Given the description of an element on the screen output the (x, y) to click on. 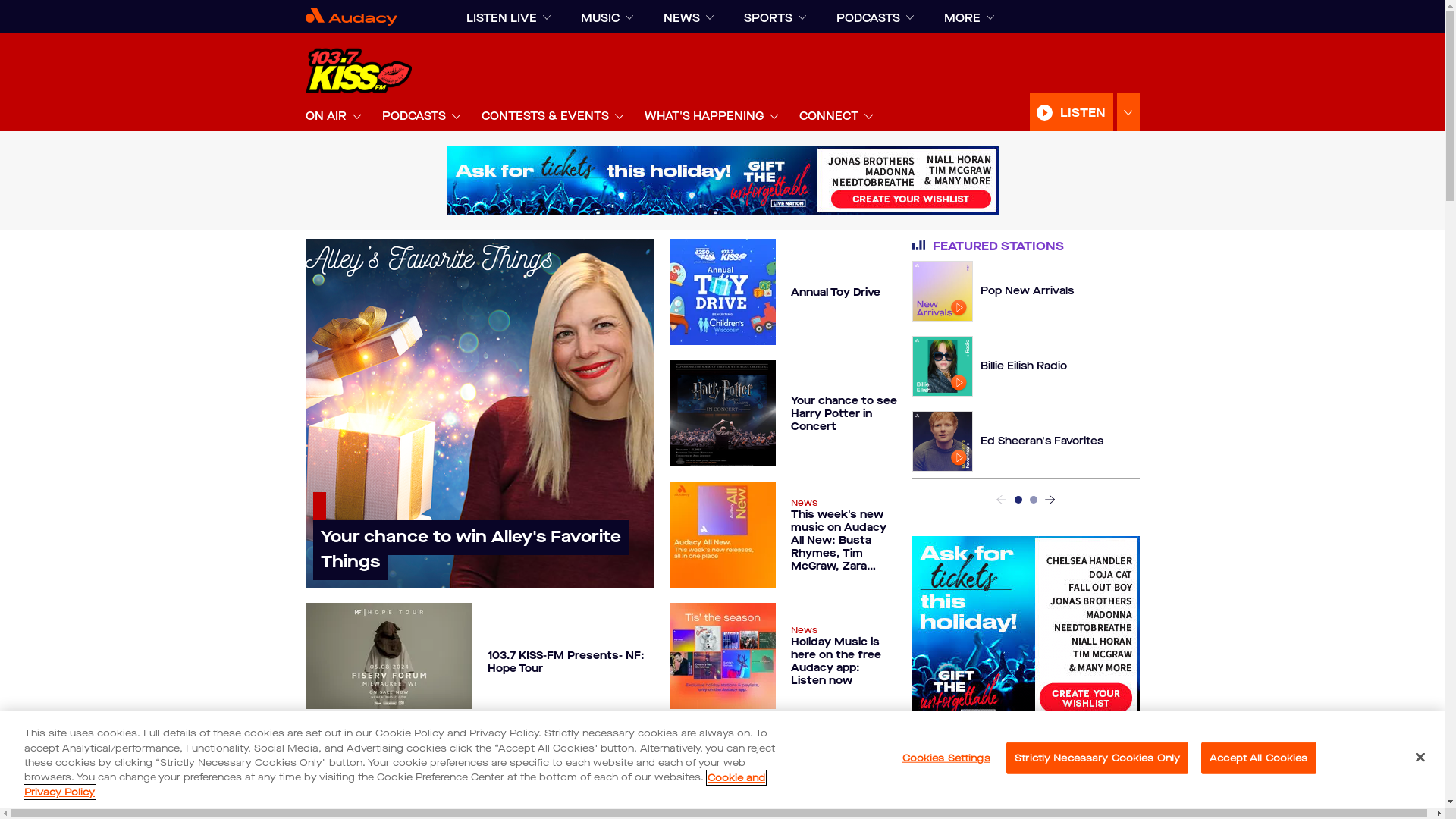
3rd party ad content Element type: hover (721, 180)
ON AIR Element type: text (324, 115)
PODCASTS Element type: text (867, 17)
MORE Element type: text (961, 17)
Cookies Settings Element type: text (945, 758)
Strictly Necessary Cookies Only Element type: text (1097, 758)
WHAT'S HAPPENING Element type: text (703, 115)
PODCASTS Element type: text (413, 115)
SPORTS Element type: text (767, 17)
LISTEN LIVE Element type: text (500, 17)
Pop New Arrivals Element type: text (992, 290)
Accept All Cookies Element type: text (1258, 758)
Billie Eilish Radio Element type: text (988, 365)
NEWS Element type: text (680, 17)
Your chance to win Alley's Favorite Things Element type: text (478, 412)
Ed Sheeran's Favorites Element type: text (1006, 441)
103.7 KISS-FM Presents- NF: Hope Tour Element type: text (478, 655)
  Element type: text (1018, 499)
3rd party ad content Element type: hover (1025, 630)
Audacy Logo Element type: text (369, 16)
MUSIC Element type: text (599, 17)
  Element type: text (1033, 499)
CONNECT Element type: text (828, 115)
LISTEN Element type: text (1071, 112)
Cookie and Privacy Policy Element type: text (394, 785)
CONTESTS & EVENTS Element type: text (544, 115)
Annual Toy Drive Element type: text (782, 291)
Your chance to see Harry Potter in Concert Element type: text (782, 413)
